Given the description of an element on the screen output the (x, y) to click on. 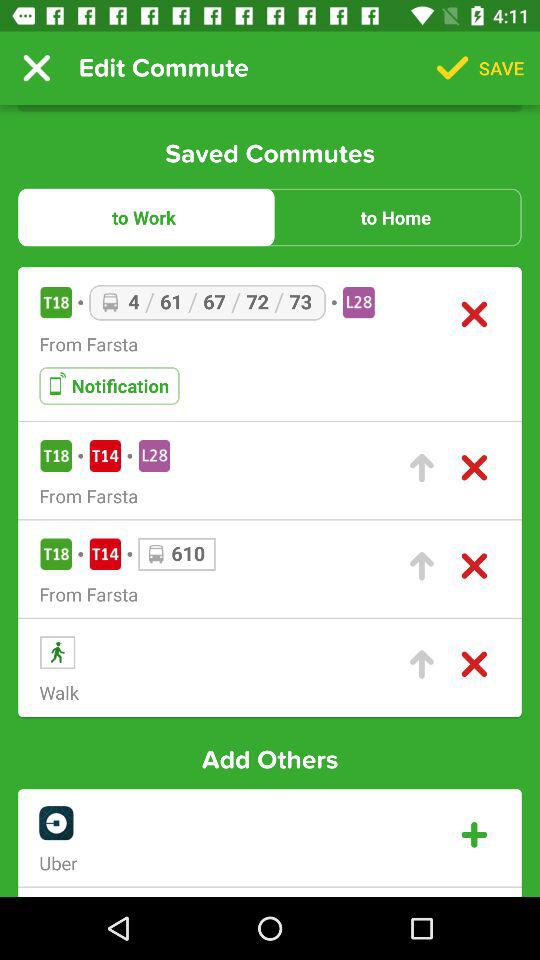
click the notification icon (109, 386)
